Given the description of an element on the screen output the (x, y) to click on. 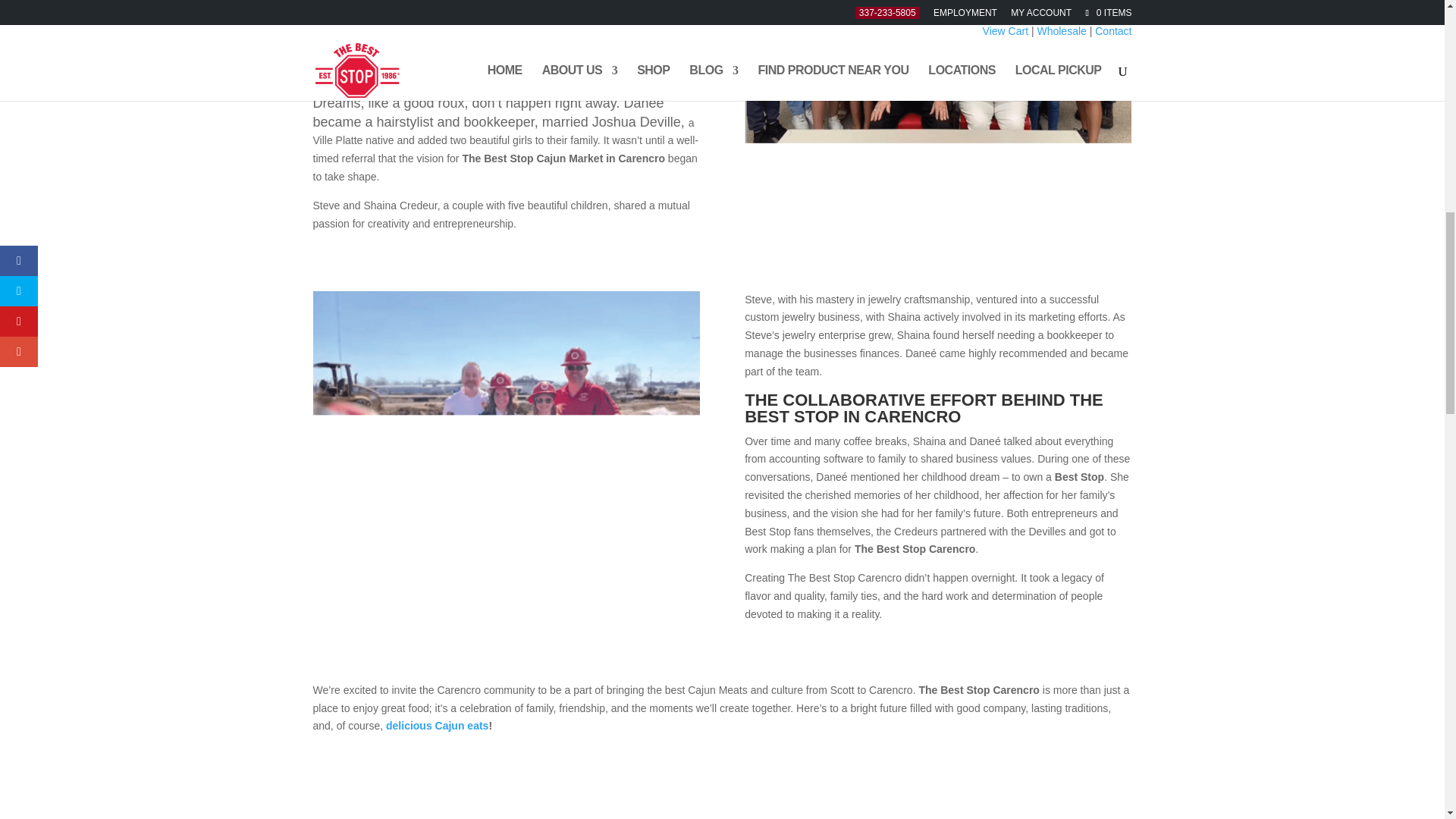
Robert and Brunella Cormier (539, 2)
delicious Cajun eats (436, 725)
